Given the description of an element on the screen output the (x, y) to click on. 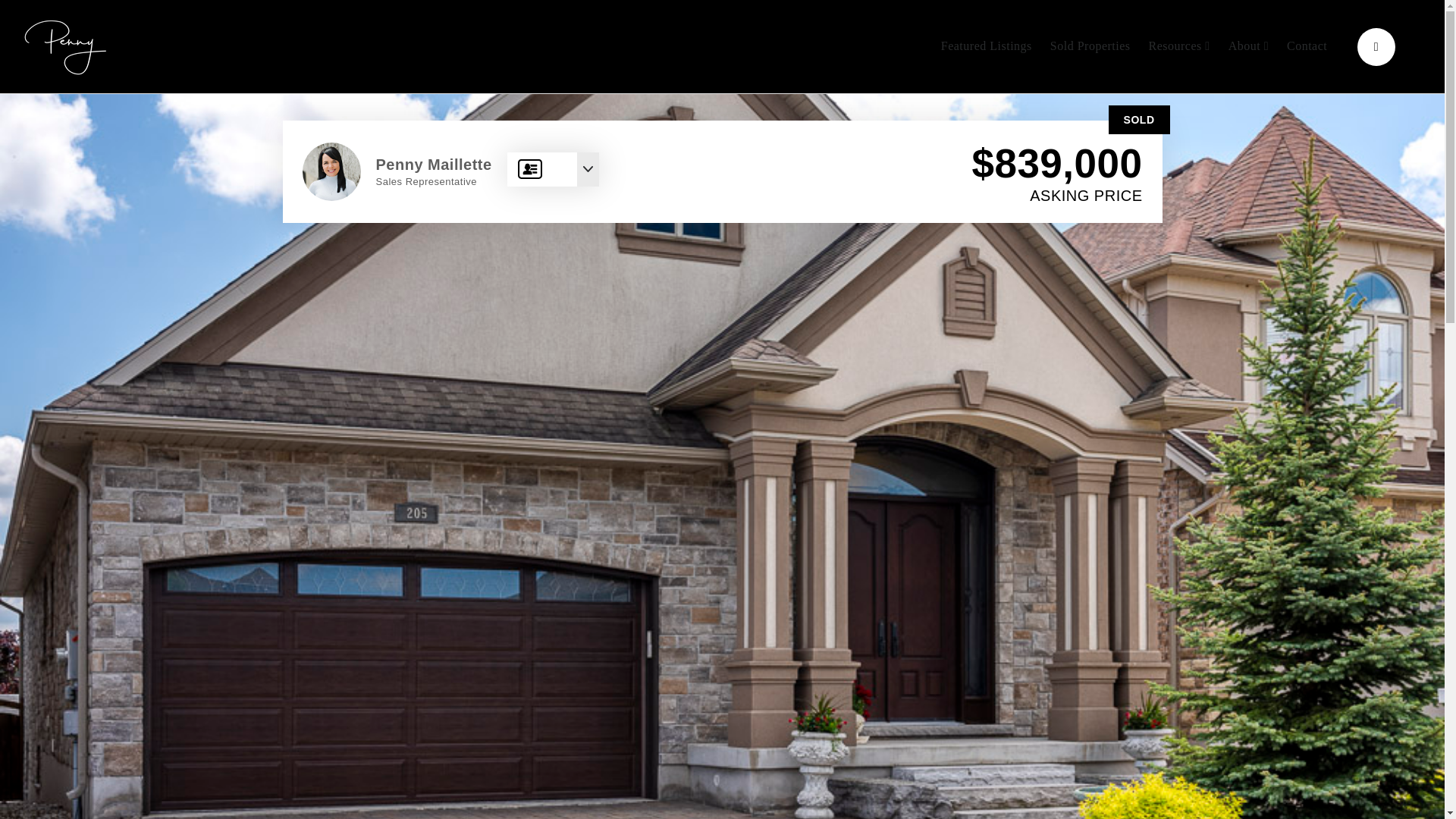
Resources (1180, 46)
Contact (1307, 46)
About (1249, 46)
Featured Listings (986, 46)
Sold Properties (1090, 46)
